Given the description of an element on the screen output the (x, y) to click on. 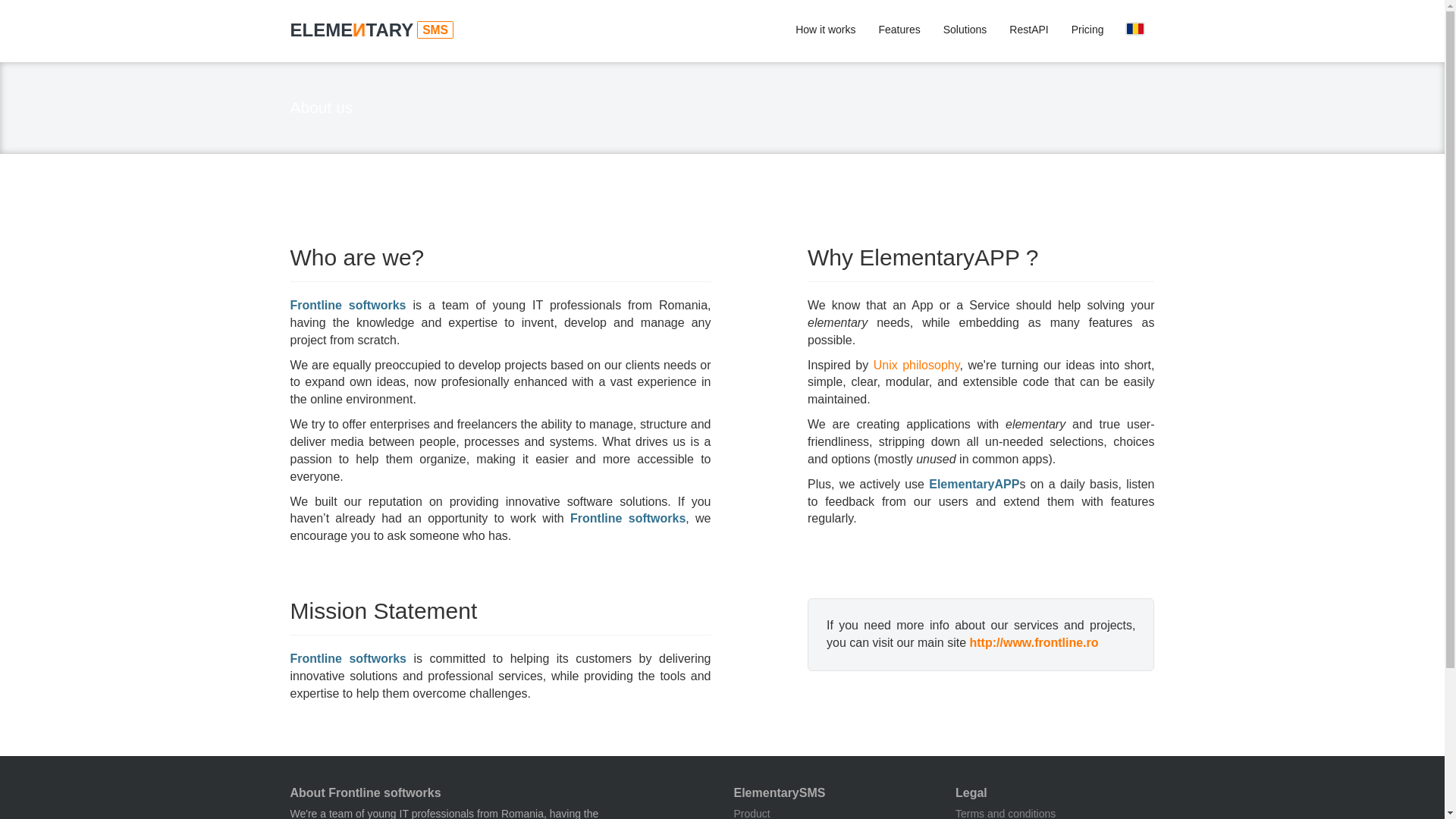
RestAPI (1028, 30)
Product (751, 813)
ELEMENTARYSMS (378, 30)
Pricing (1087, 30)
Product (751, 813)
Frontline softworks (1034, 642)
Features (899, 30)
Solutions (964, 30)
Terms and conditions (1005, 813)
Unix philosophy (916, 364)
Terms and conditions (1005, 813)
Unix philosophy (916, 364)
How it works (825, 30)
